Given the description of an element on the screen output the (x, y) to click on. 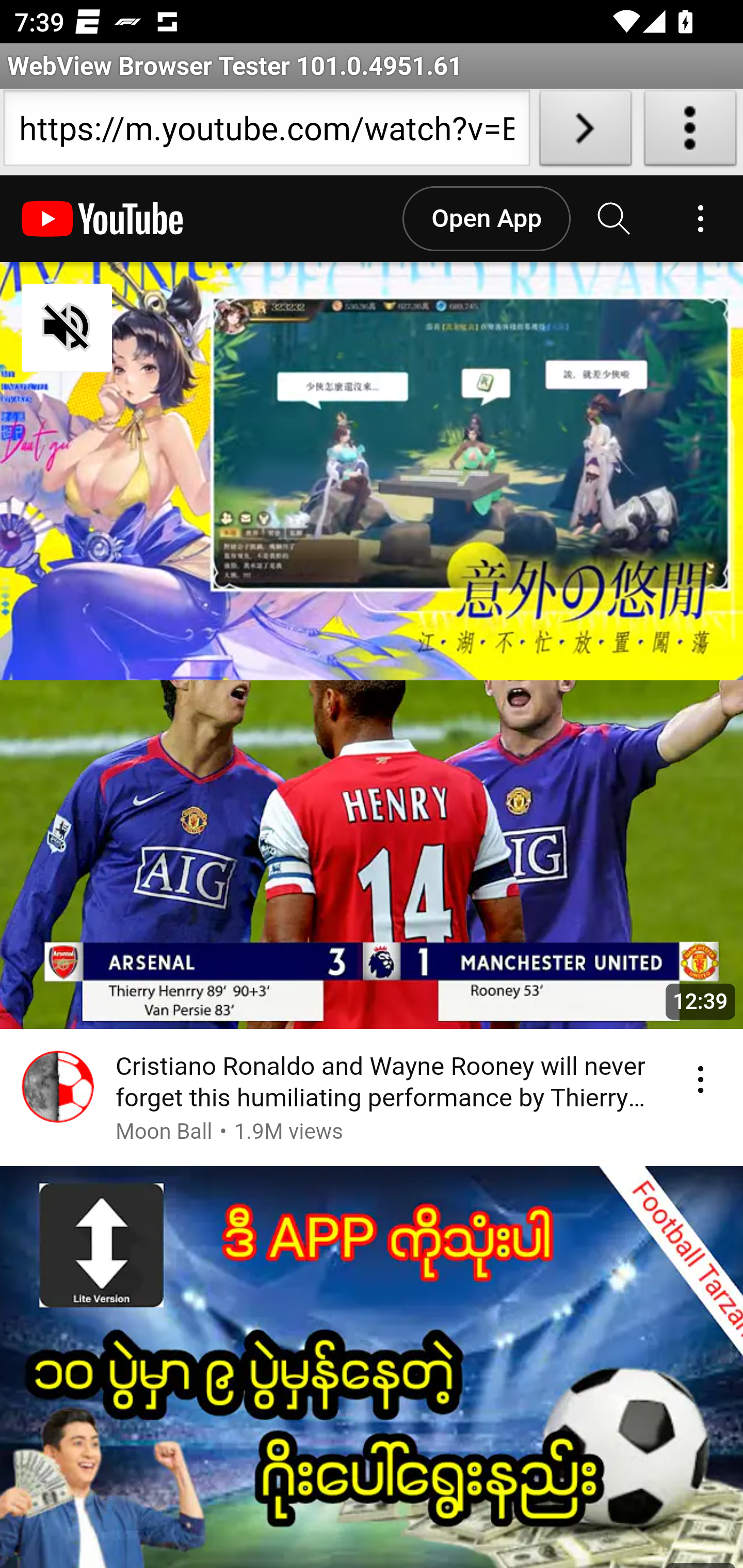
https://m.youtube.com/watch?v=BcbWemeBjj8 (266, 132)
Load URL (585, 132)
About WebView (690, 132)
YouTube (102, 219)
Search YouTube (614, 219)
Account (700, 219)
Open App (485, 219)
YouTube Video Player TAP TO UNMUTE (371, 471)
Action menu (700, 1080)
Go to channel (58, 1090)
